Given the description of an element on the screen output the (x, y) to click on. 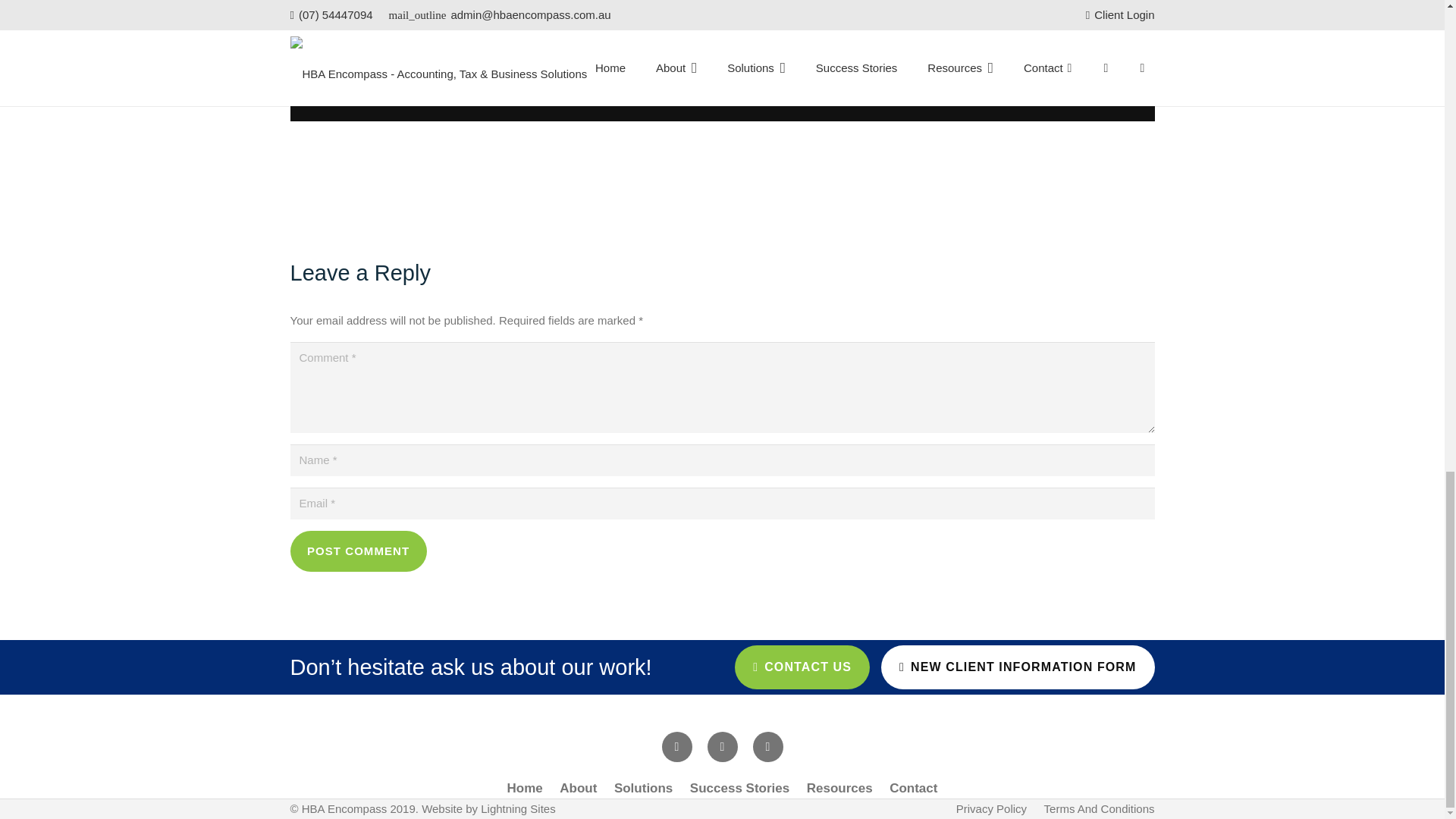
CONTACT US (802, 667)
POST COMMENT (357, 550)
LinkedIn (767, 747)
Facebook (676, 747)
YouTube (721, 747)
Solutions (643, 788)
Youtube video player (721, 60)
Success Stories (739, 788)
About (577, 788)
NEW CLIENT INFORMATION FORM (1017, 667)
